Given the description of an element on the screen output the (x, y) to click on. 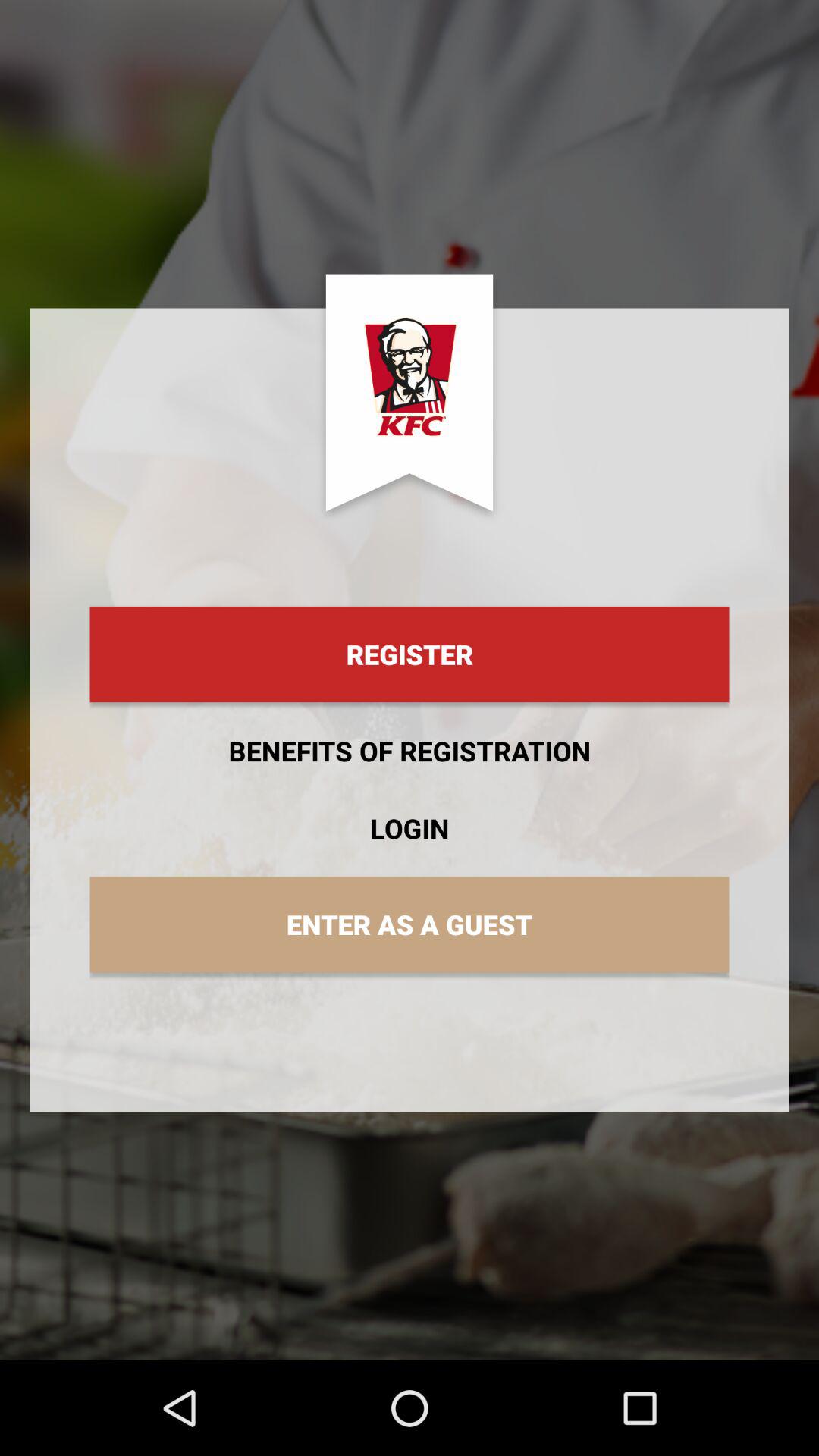
tap the login (409, 828)
